Given the description of an element on the screen output the (x, y) to click on. 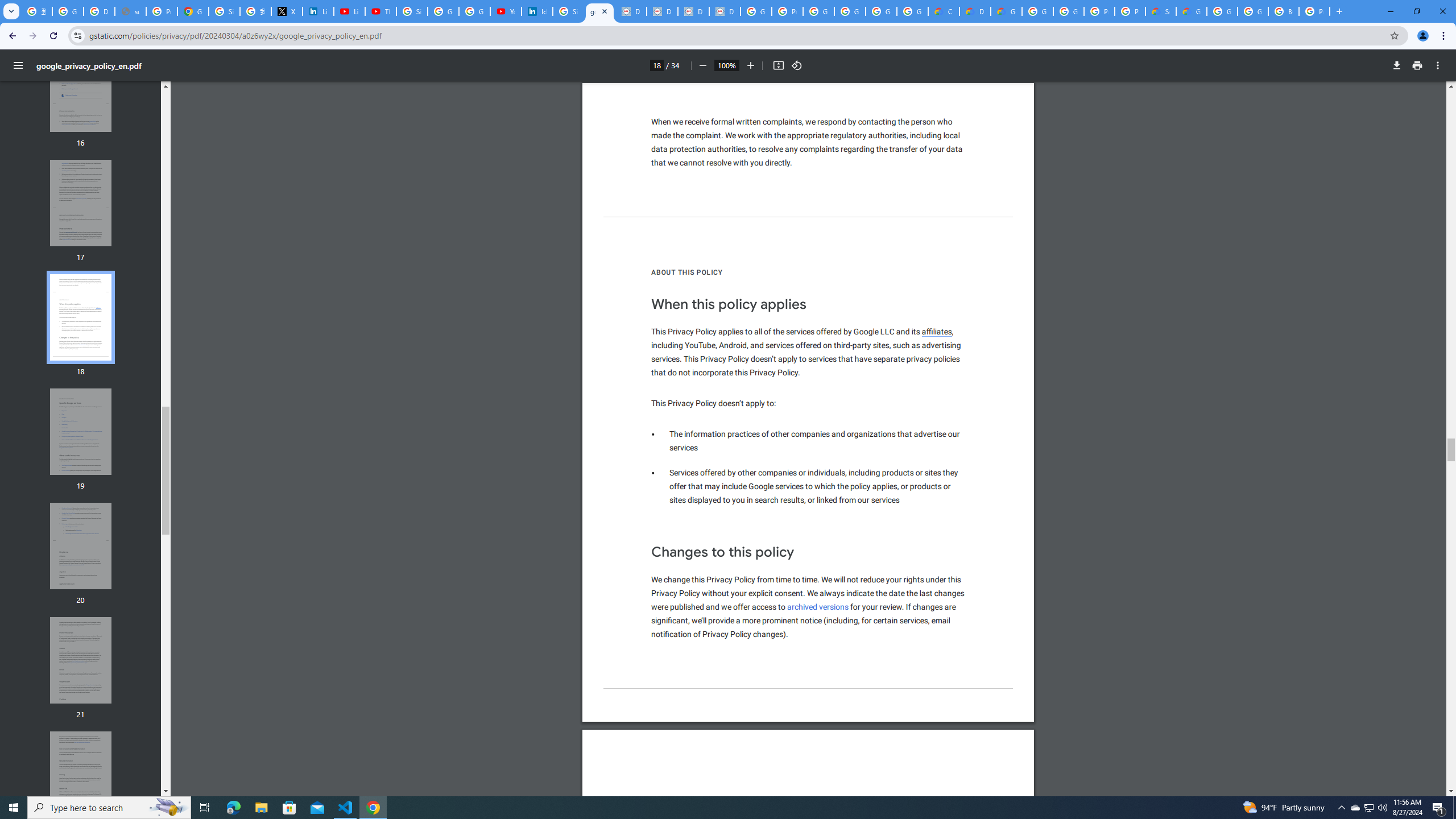
support.google.com - Network error (130, 11)
archived versions (817, 606)
AutomationID: thumbnail (80, 774)
Google Workspace - Specific Terms (912, 11)
Data Privacy Framework (631, 11)
Support Hub | Google Cloud (1160, 11)
Google Cloud Service Health (1190, 11)
Thumbnail for page 20 (80, 545)
Download (1396, 65)
